Given the description of an element on the screen output the (x, y) to click on. 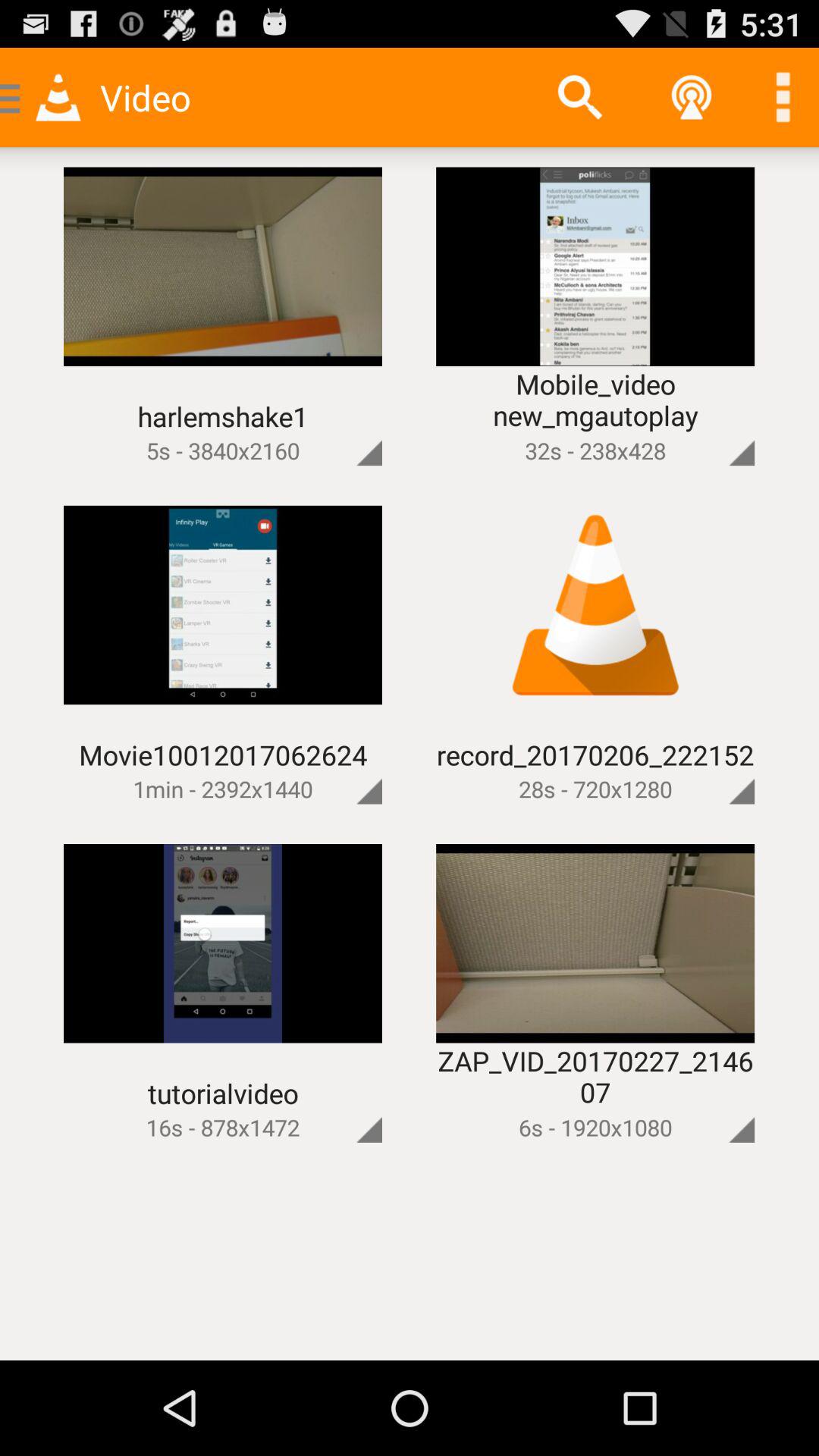
toggle a select option (715, 1103)
